Given the description of an element on the screen output the (x, y) to click on. 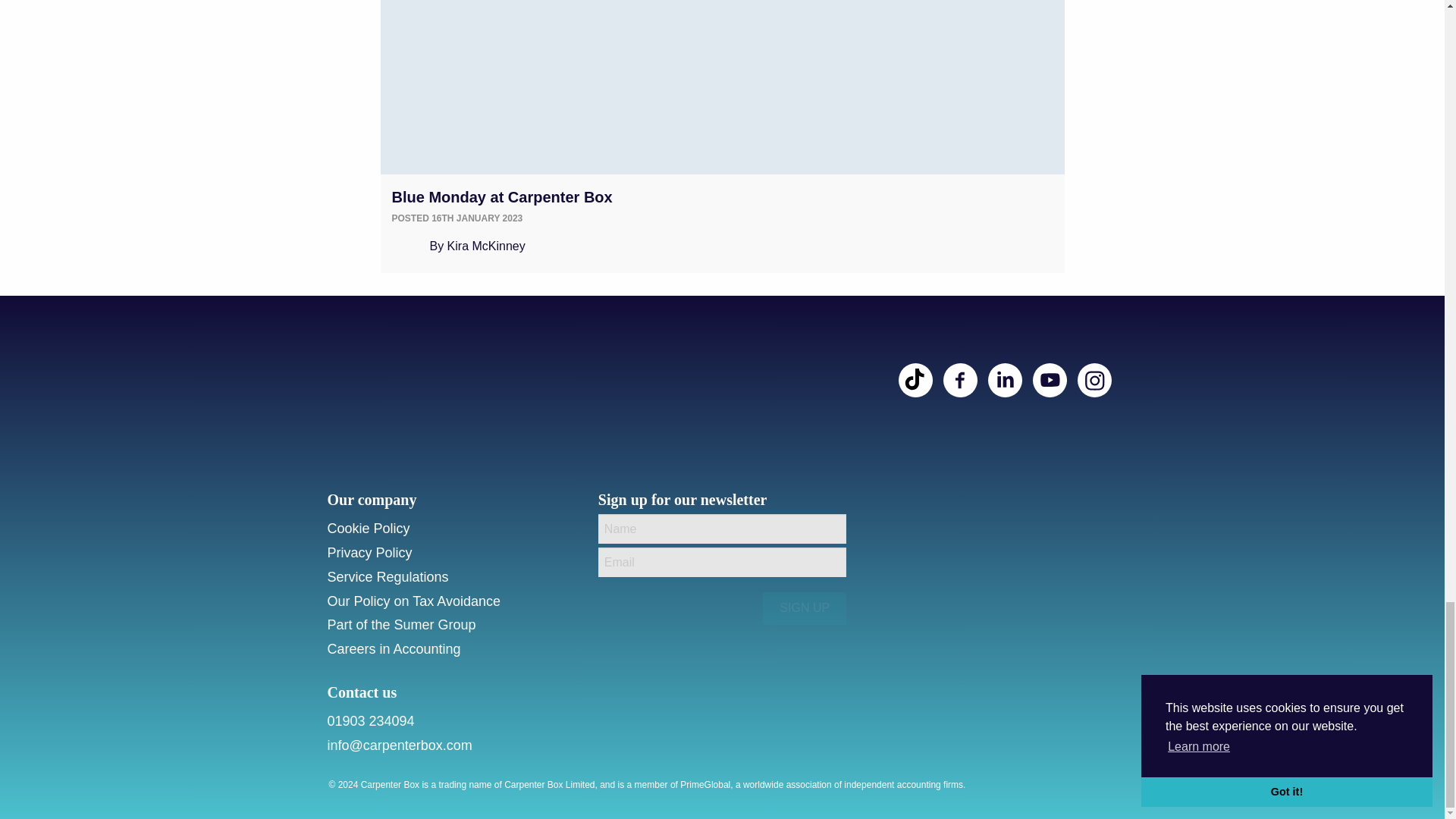
Sign Up (803, 608)
scg-instagram (1094, 380)
